Given the description of an element on the screen output the (x, y) to click on. 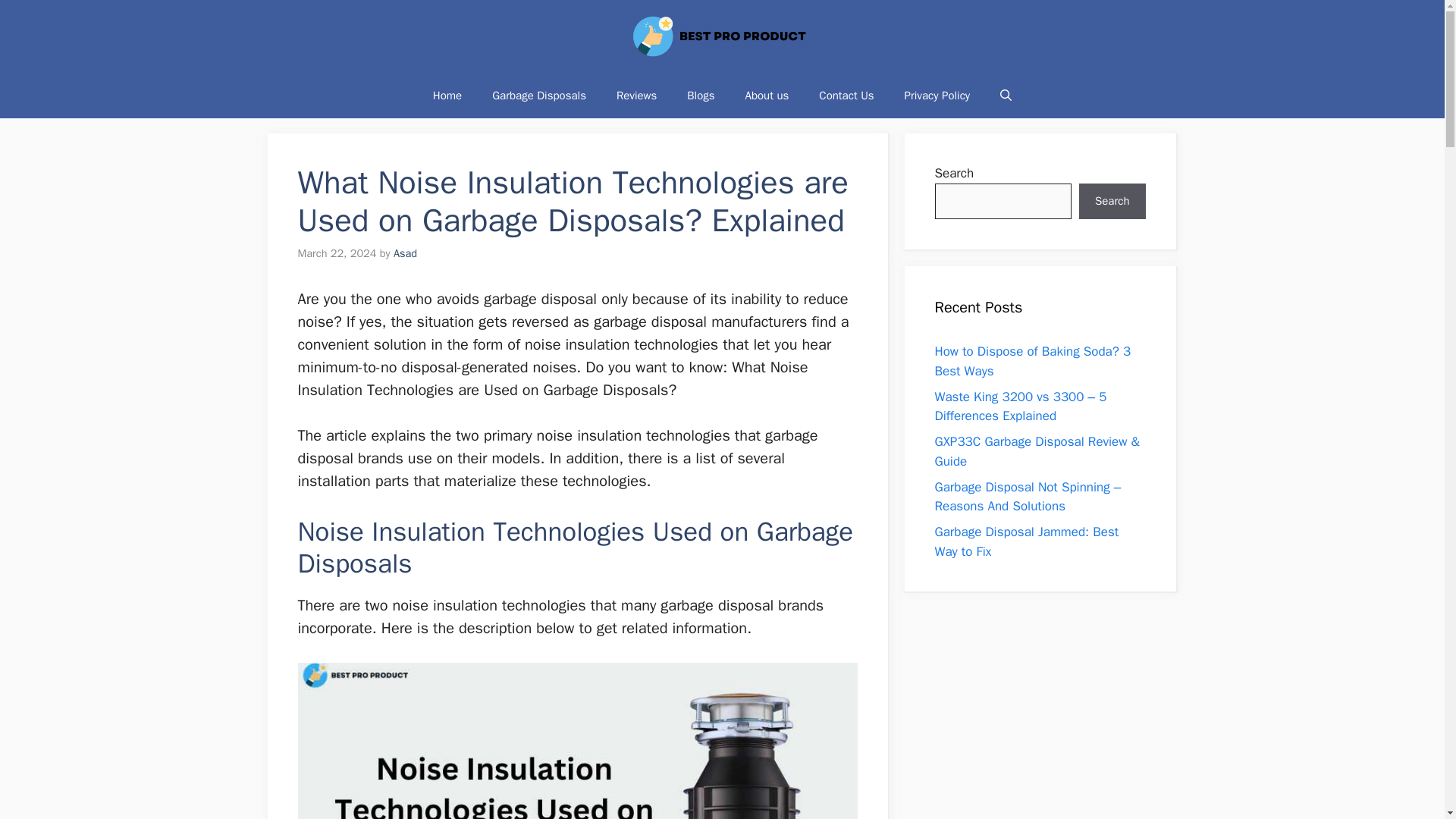
Contact Us (845, 94)
Garbage Disposals (539, 94)
Garbage Disposal Jammed: Best Way to Fix (1026, 541)
Privacy Policy (937, 94)
Blogs (700, 94)
View all posts by Asad (404, 253)
About us (767, 94)
Home (447, 94)
How to Dispose of Baking Soda? 3 Best Ways (1032, 361)
Search (1111, 201)
